Given the description of an element on the screen output the (x, y) to click on. 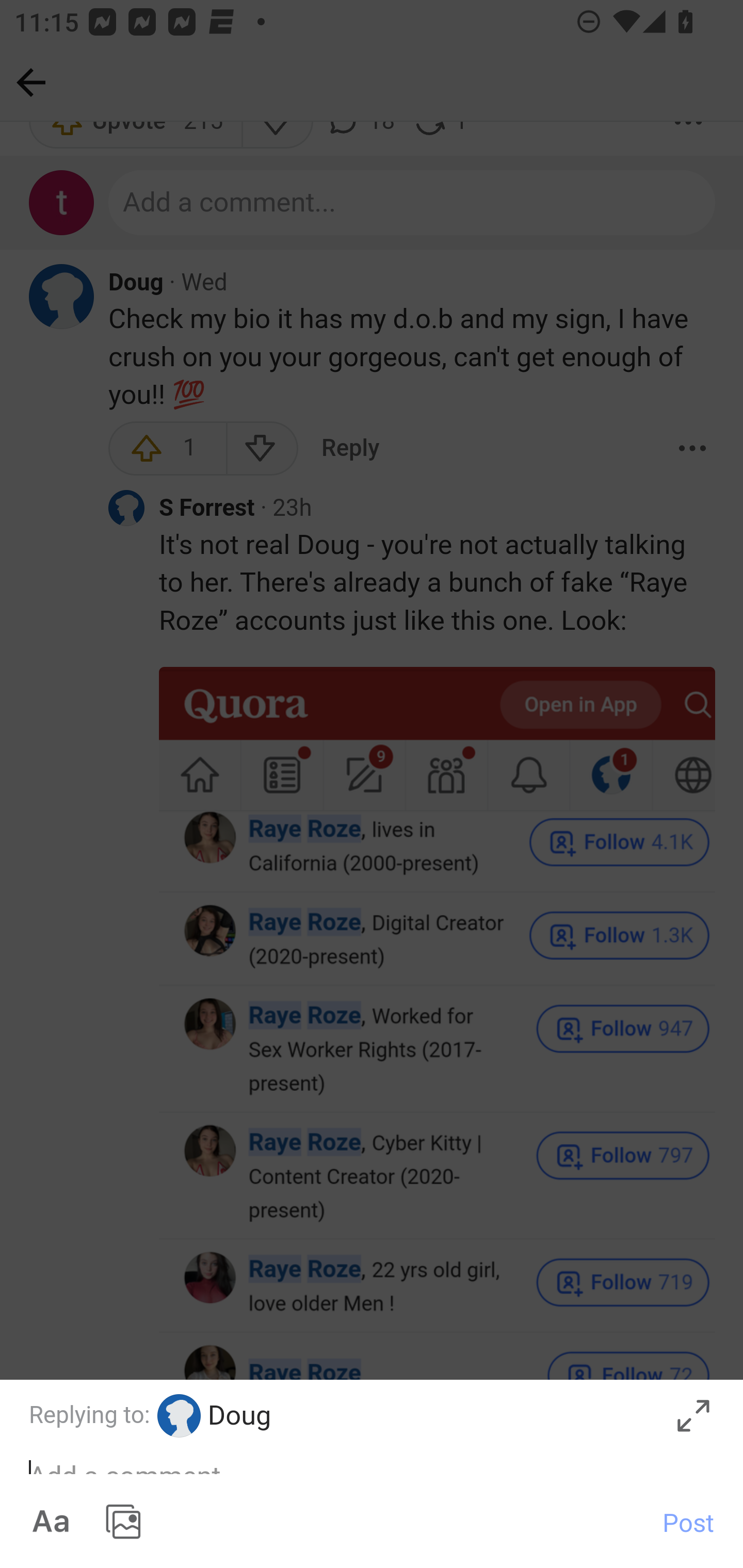
Quora Post (371, 1473)
Post (687, 1521)
